Given the description of an element on the screen output the (x, y) to click on. 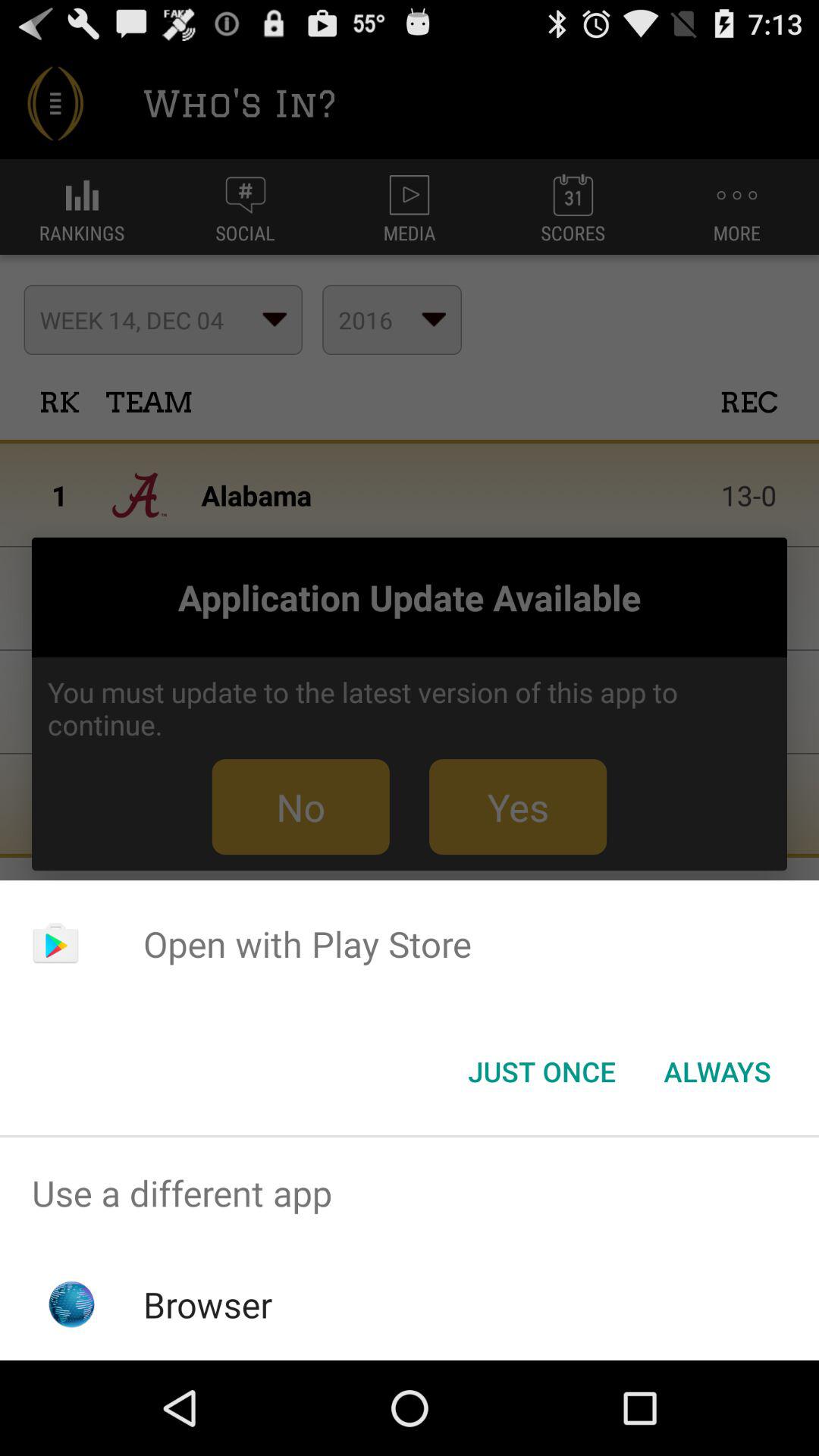
press item to the left of the always button (541, 1071)
